Given the description of an element on the screen output the (x, y) to click on. 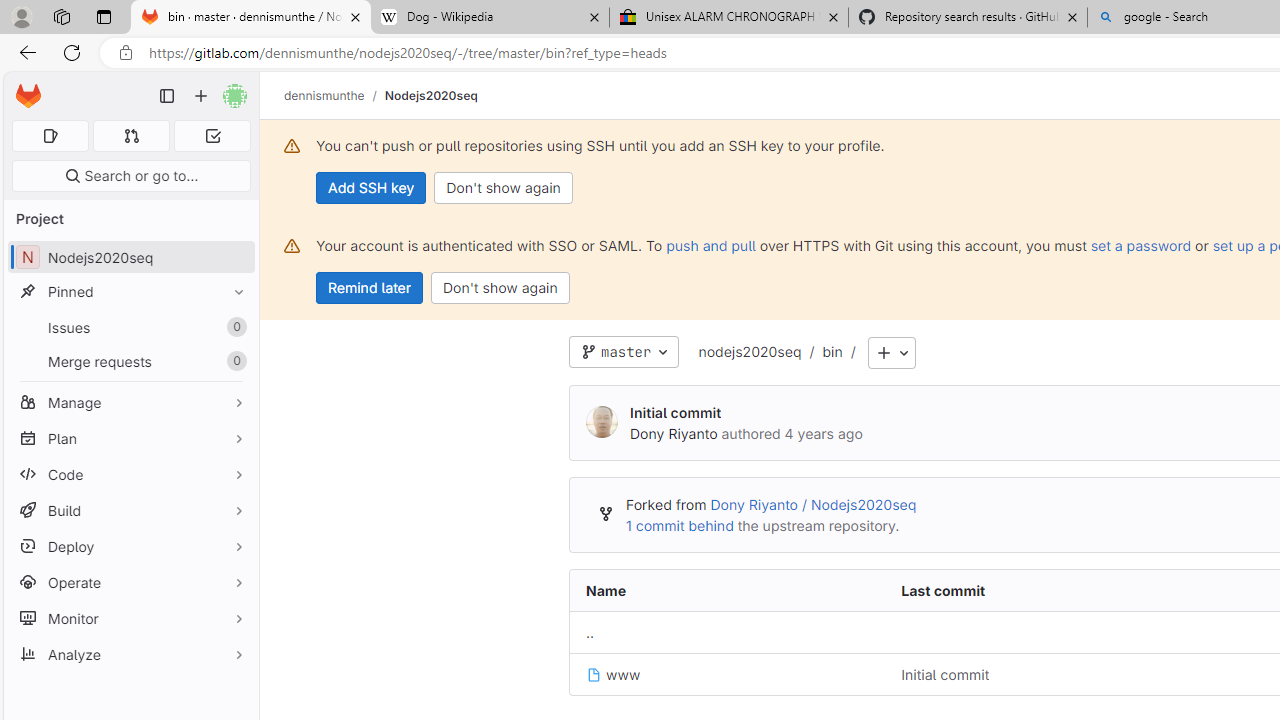
Plan (130, 438)
Build (130, 510)
dennismunthe/ (334, 95)
Code (130, 474)
Analyze (130, 654)
Manage (130, 402)
Issues0 (130, 327)
Skip to main content (23, 87)
Monitor (130, 618)
Monitor (130, 618)
